Given the description of an element on the screen output the (x, y) to click on. 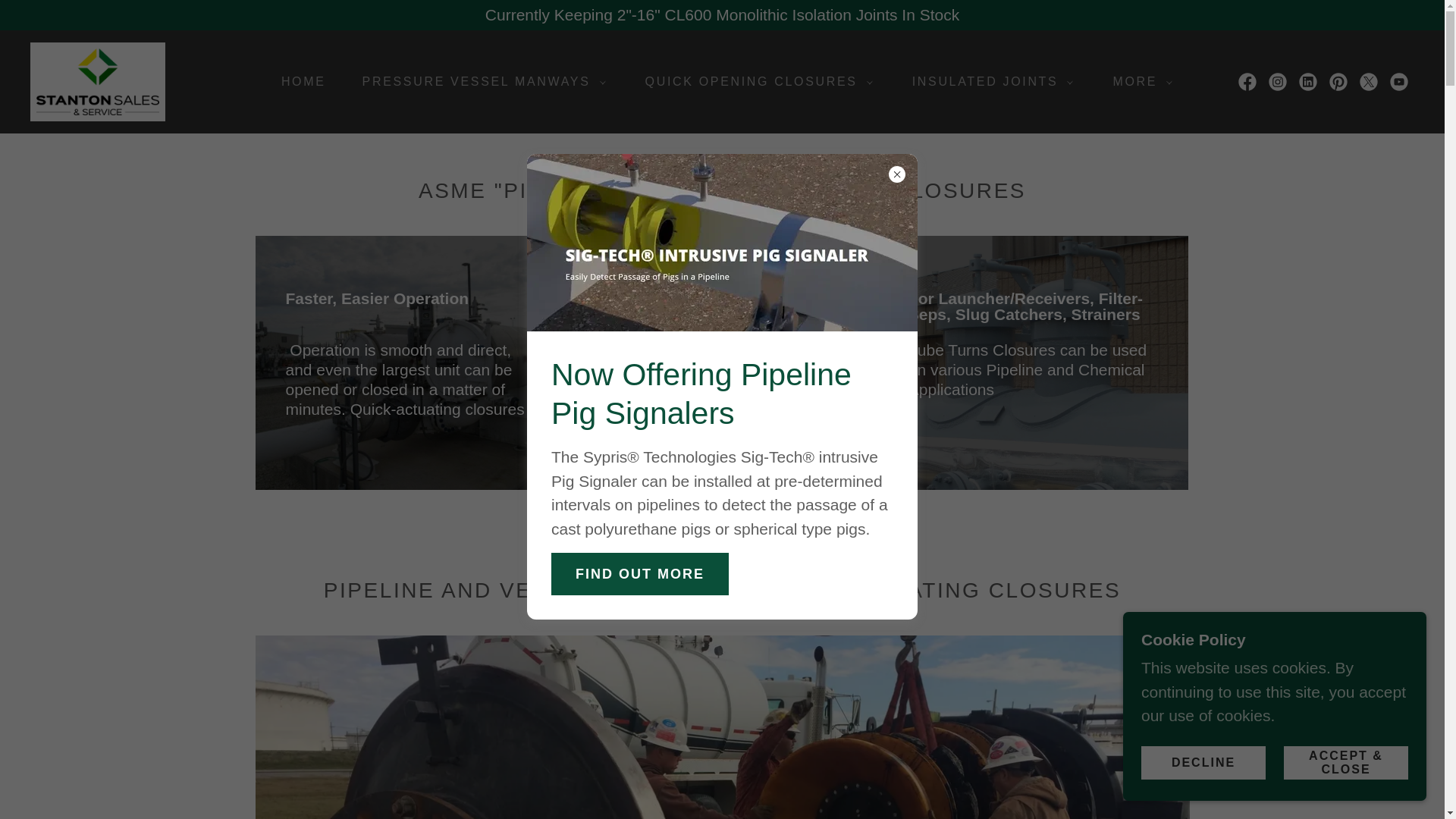
HOME (297, 81)
QUICK OPENING CLOSURES (754, 81)
INSULATED JOINTS (988, 81)
MORE (1137, 81)
PRESSURE VESSEL MANWAYS (479, 81)
